Given the description of an element on the screen output the (x, y) to click on. 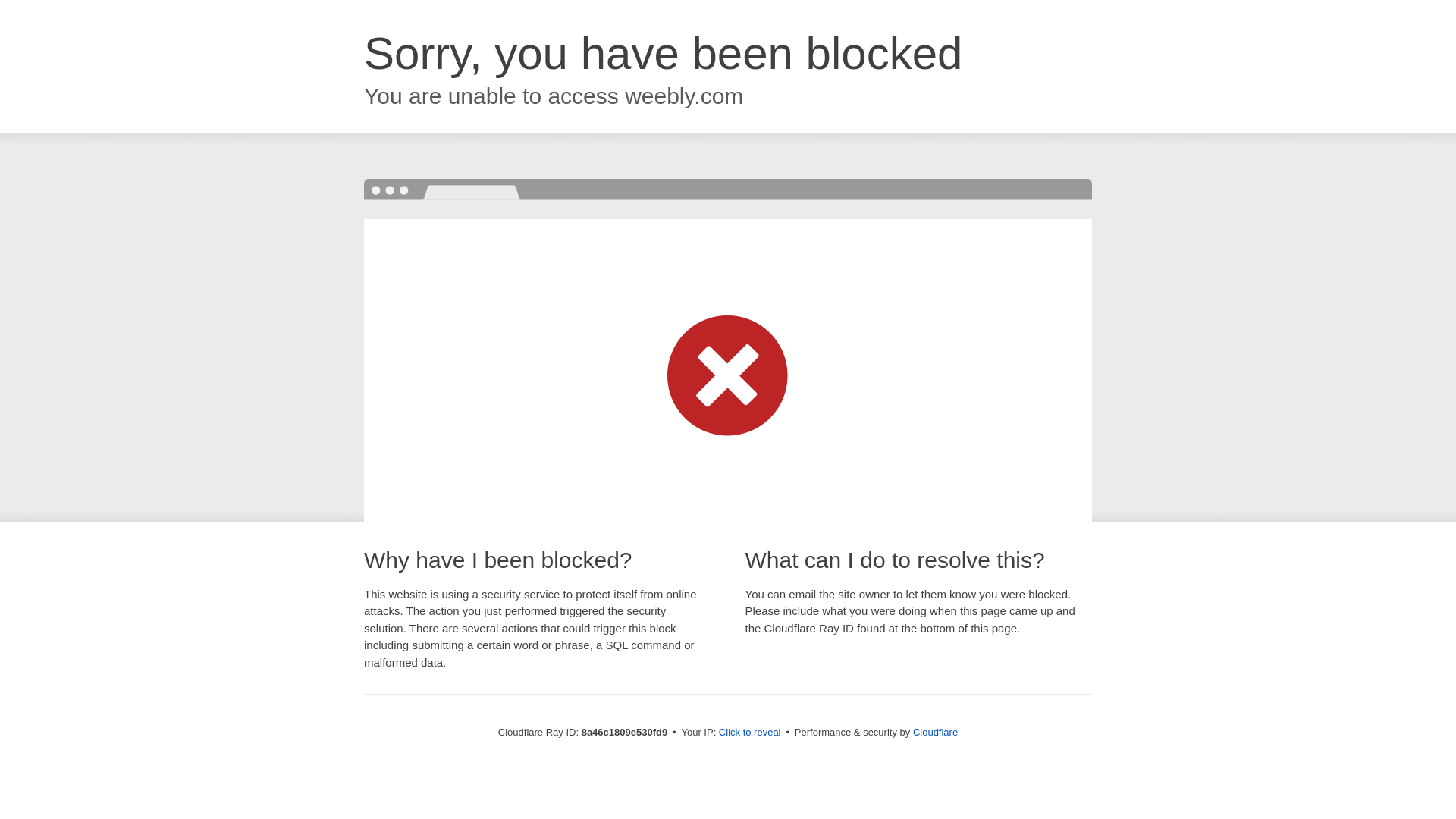
Cloudflare (935, 731)
Click to reveal (749, 732)
